Given the description of an element on the screen output the (x, y) to click on. 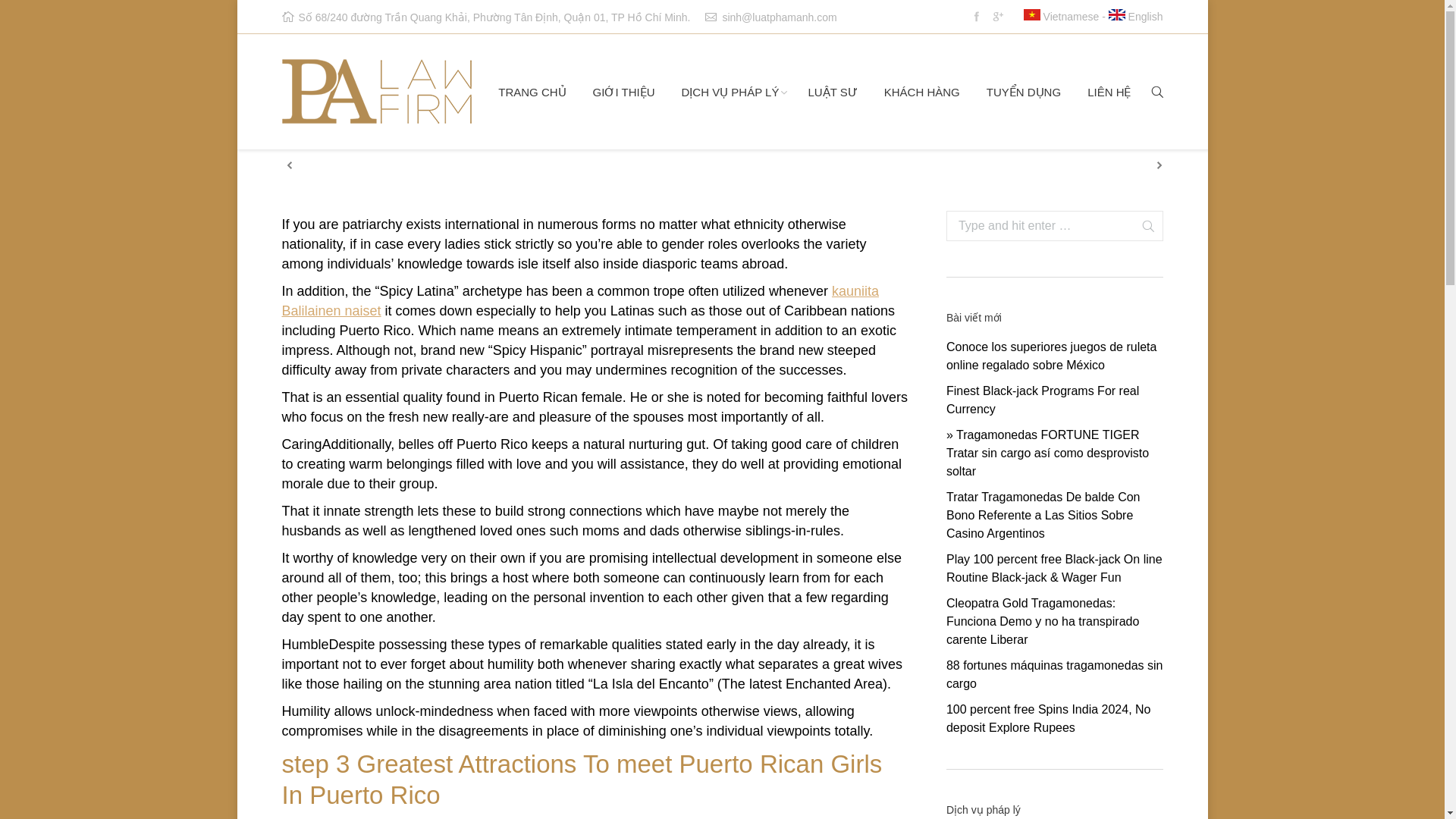
Go! (1142, 225)
Go! (1142, 225)
Facebook (976, 16)
Vietnamese (1061, 16)
English (1135, 16)
